Given the description of an element on the screen output the (x, y) to click on. 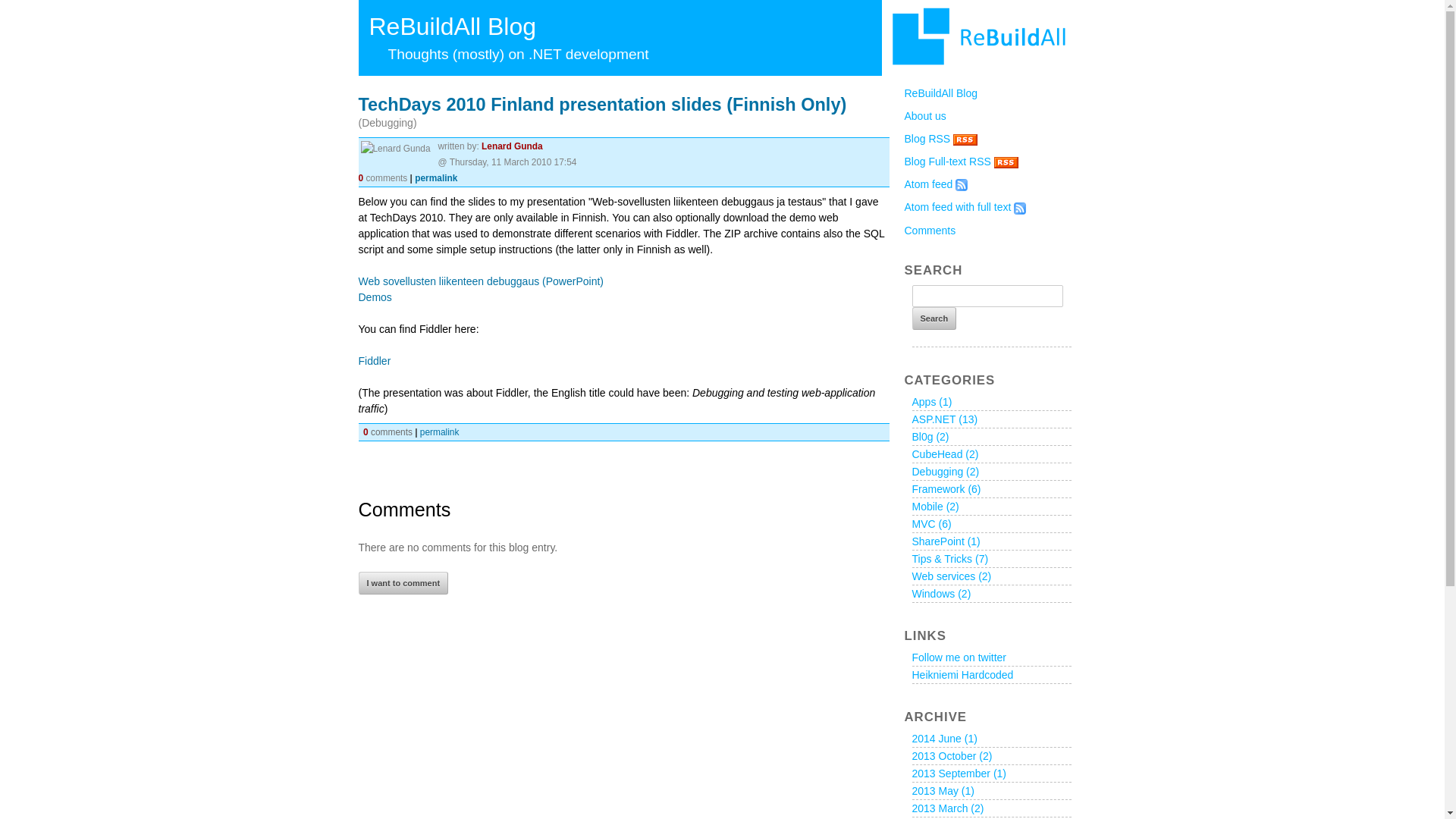
Blog Full-text RSS (947, 161)
permalink (435, 177)
About us (924, 115)
Follow me on twitter (958, 657)
Blog RSS (927, 138)
Demos (374, 297)
Search (933, 318)
Comments (929, 230)
Search (933, 318)
I want to comment (403, 582)
Fiddler (374, 360)
Heikniemi Hardcoded (962, 674)
Atom feed with full text (957, 206)
I want to comment (403, 582)
ReBuildAll Blog (940, 92)
